Given the description of an element on the screen output the (x, y) to click on. 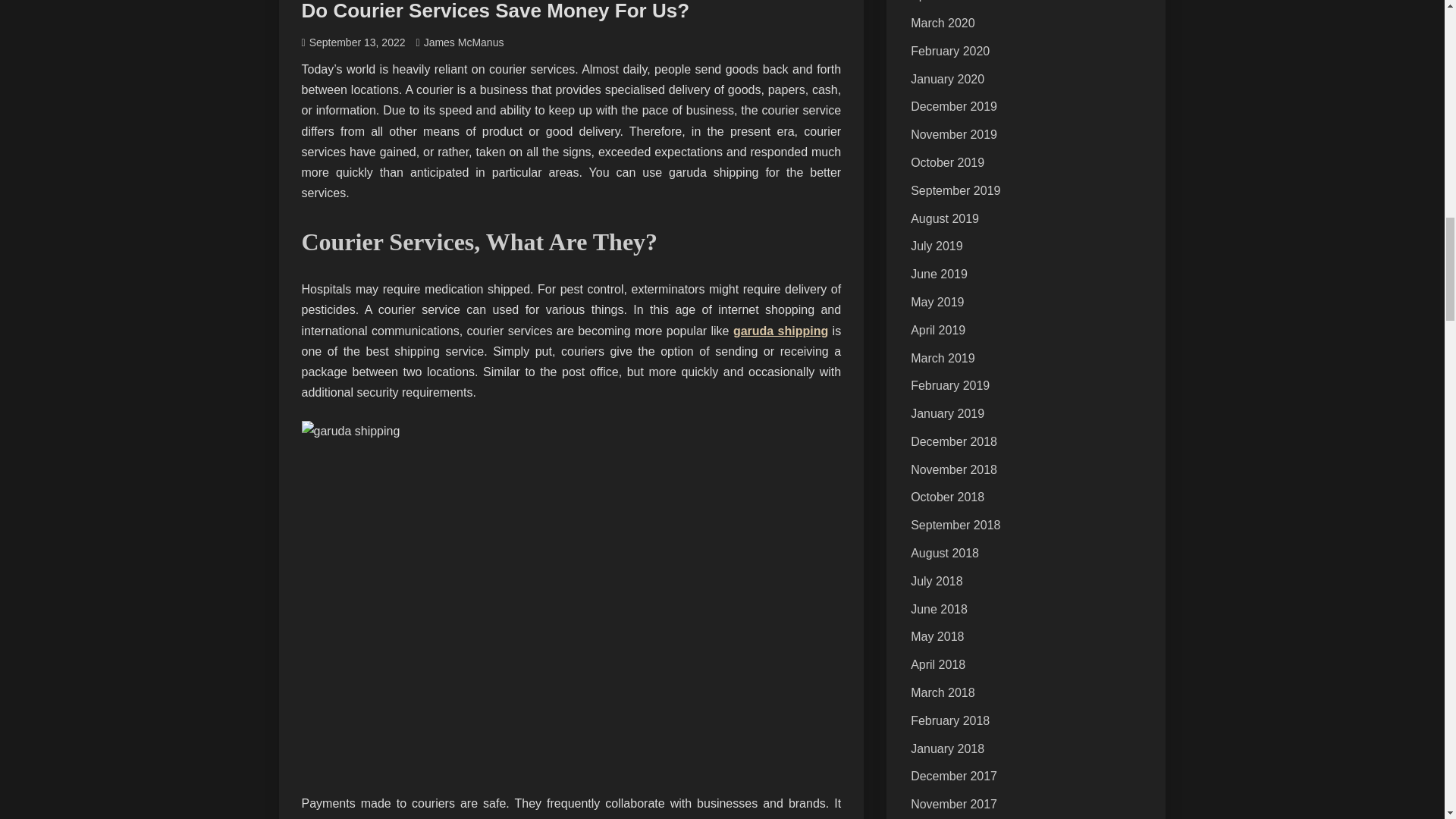
garuda shipping (780, 330)
James McManus (463, 42)
September 13, 2022 (357, 42)
Do Courier Services Save Money For Us? (495, 11)
